Given the description of an element on the screen output the (x, y) to click on. 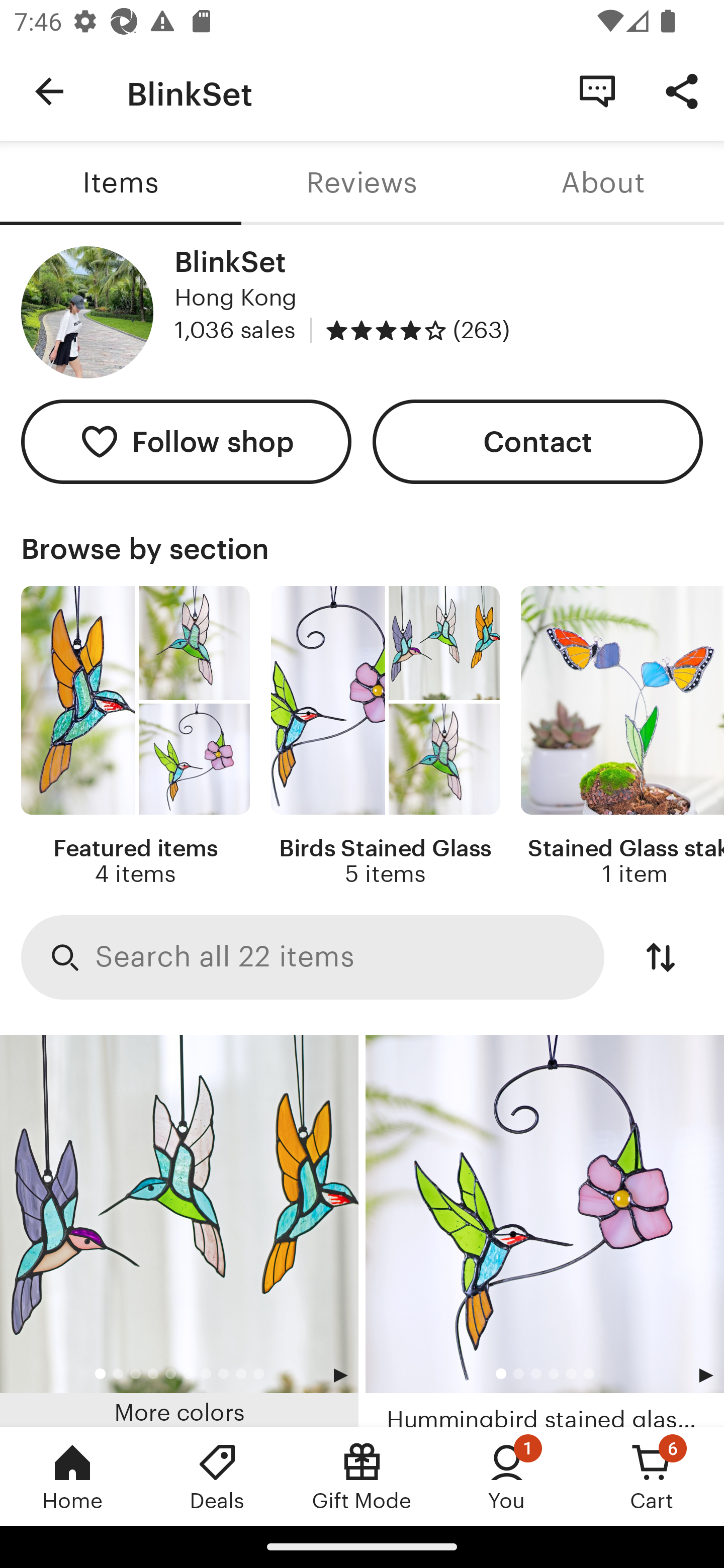
Navigate up (49, 91)
Contact Shop (597, 90)
Share (681, 90)
Reviews (361, 183)
About (603, 183)
Follow shop (185, 441)
Contact (537, 441)
Featured items 4 items (134, 736)
Birds Stained Glass 5 items (384, 736)
Stained Glass stake 1 item (622, 736)
Search Search all 22 items (312, 957)
More colors (179, 1230)
Deals (216, 1475)
Gift Mode (361, 1475)
You, 1 new notification You (506, 1475)
Cart, 6 new notifications Cart (651, 1475)
